Given the description of an element on the screen output the (x, y) to click on. 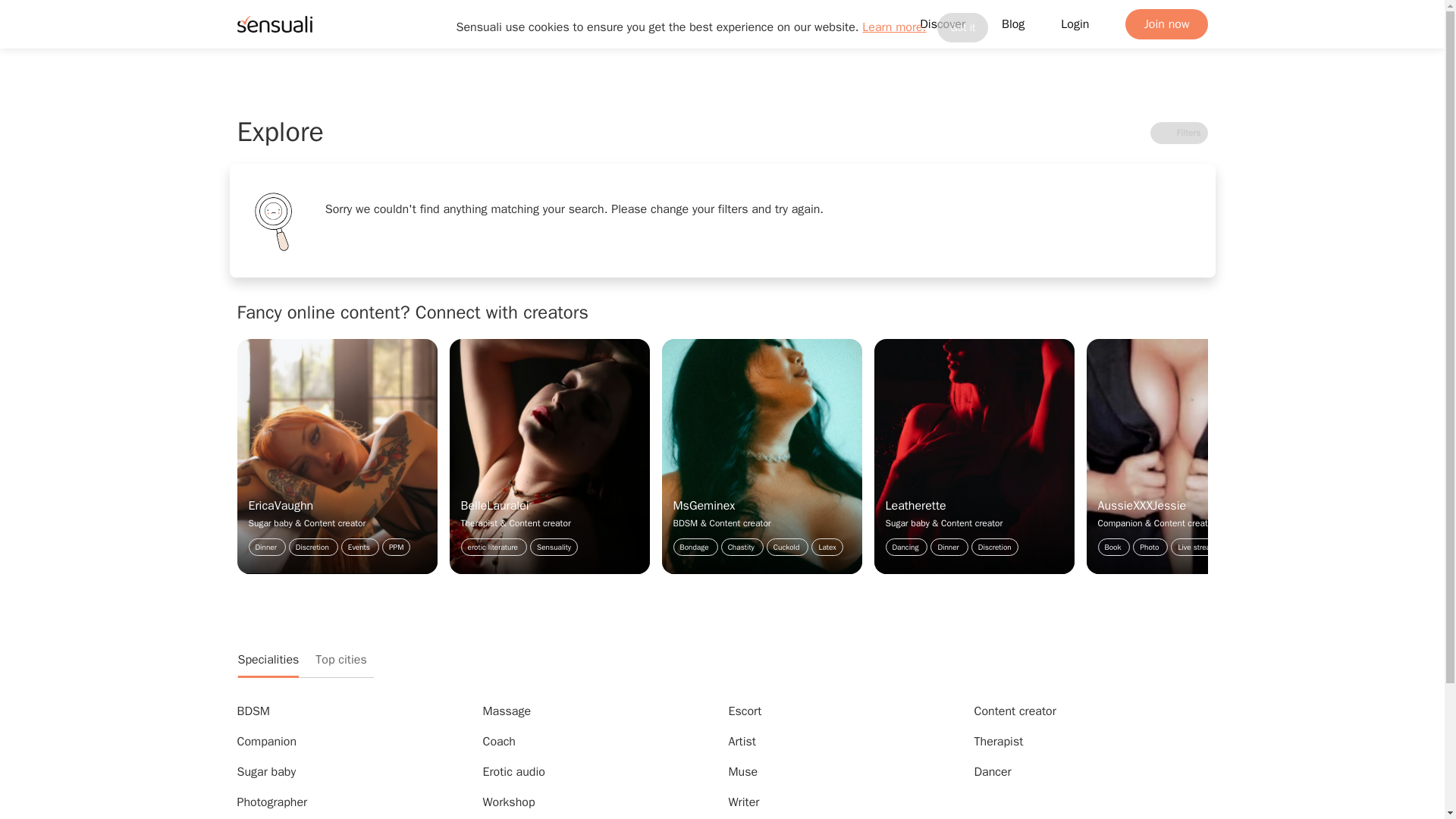
Sensuali Blog (1013, 24)
Escort (744, 711)
Massage (506, 711)
Create a Sensuali profile (1166, 24)
Coach (498, 741)
Dancer (992, 771)
Top cities (340, 659)
Muse (742, 771)
Artist (741, 741)
Learn more. (893, 27)
BDSM (252, 711)
Discover or create sensual experiences - Sensuali (273, 24)
Workshop (507, 801)
Discover experiences (942, 24)
Therapist (998, 741)
